Given the description of an element on the screen output the (x, y) to click on. 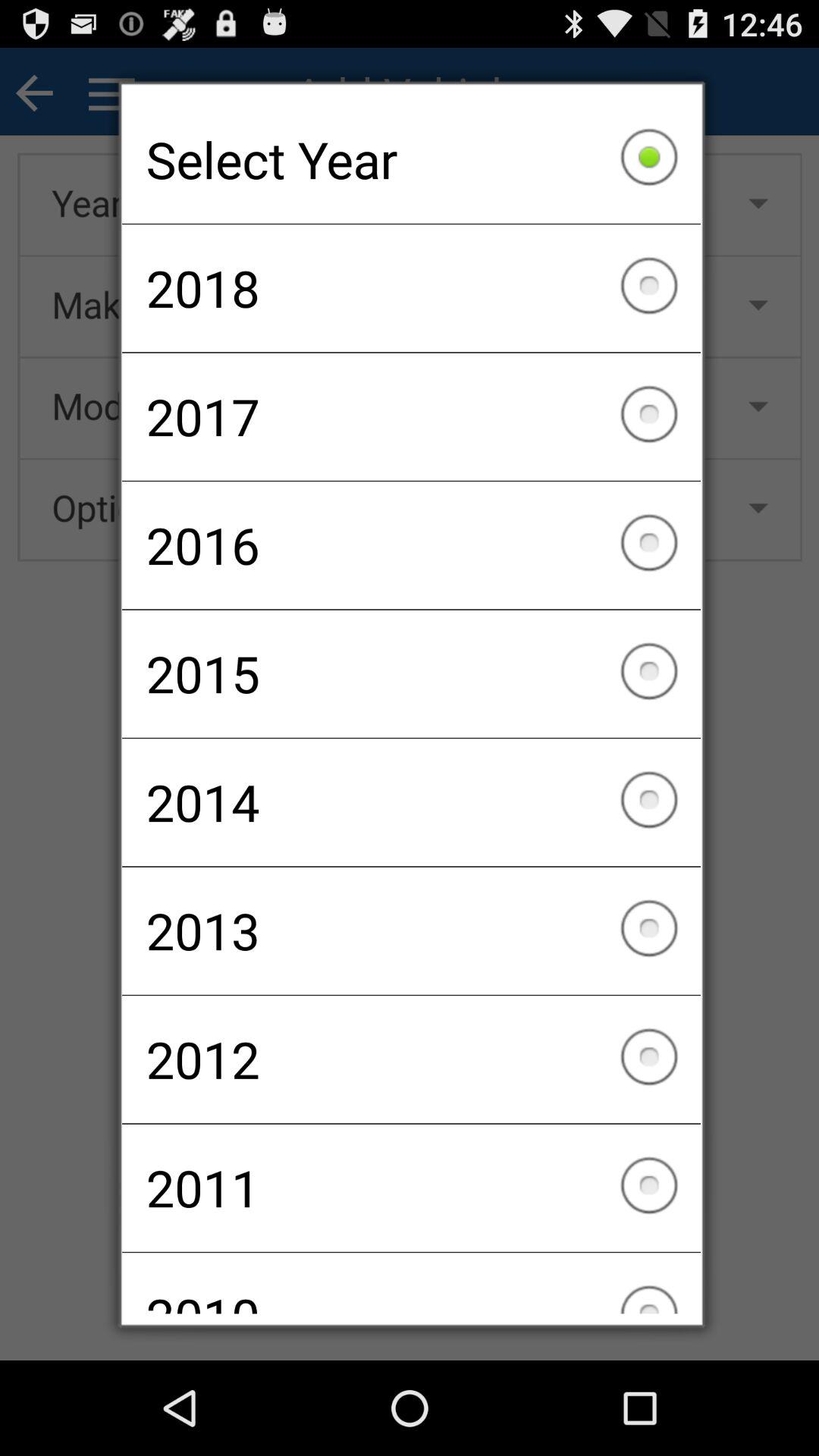
press the icon above 2014 icon (411, 673)
